Given the description of an element on the screen output the (x, y) to click on. 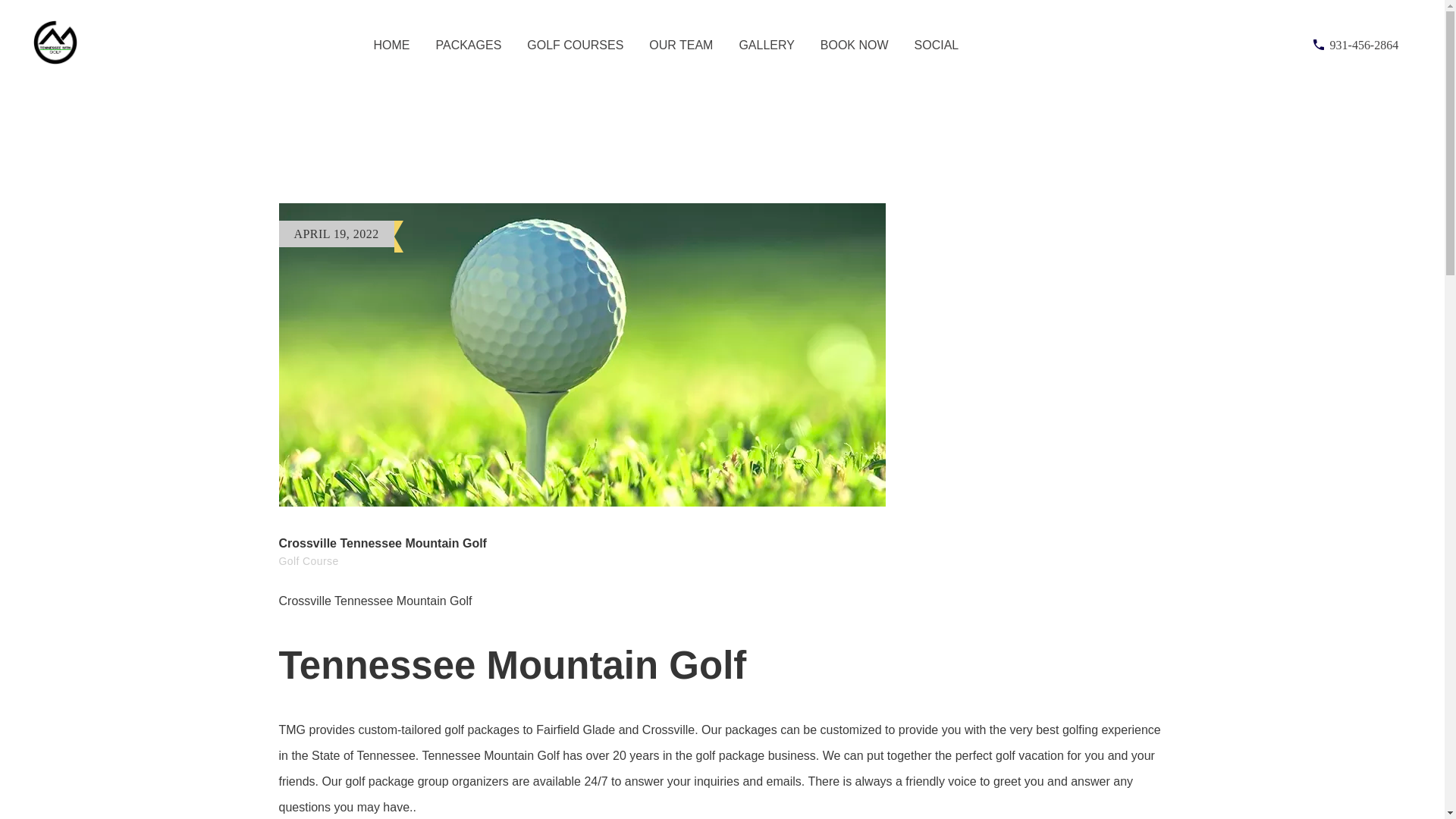
GOLF COURSES (574, 44)
SOCIAL (936, 44)
OUR TEAM (680, 44)
BOOK NOW (854, 44)
931-456-2864 (1356, 45)
HOME (392, 44)
Golf Course (309, 561)
PACKAGES (469, 44)
APRIL 19, 2022 (336, 233)
GALLERY (765, 44)
